Given the description of an element on the screen output the (x, y) to click on. 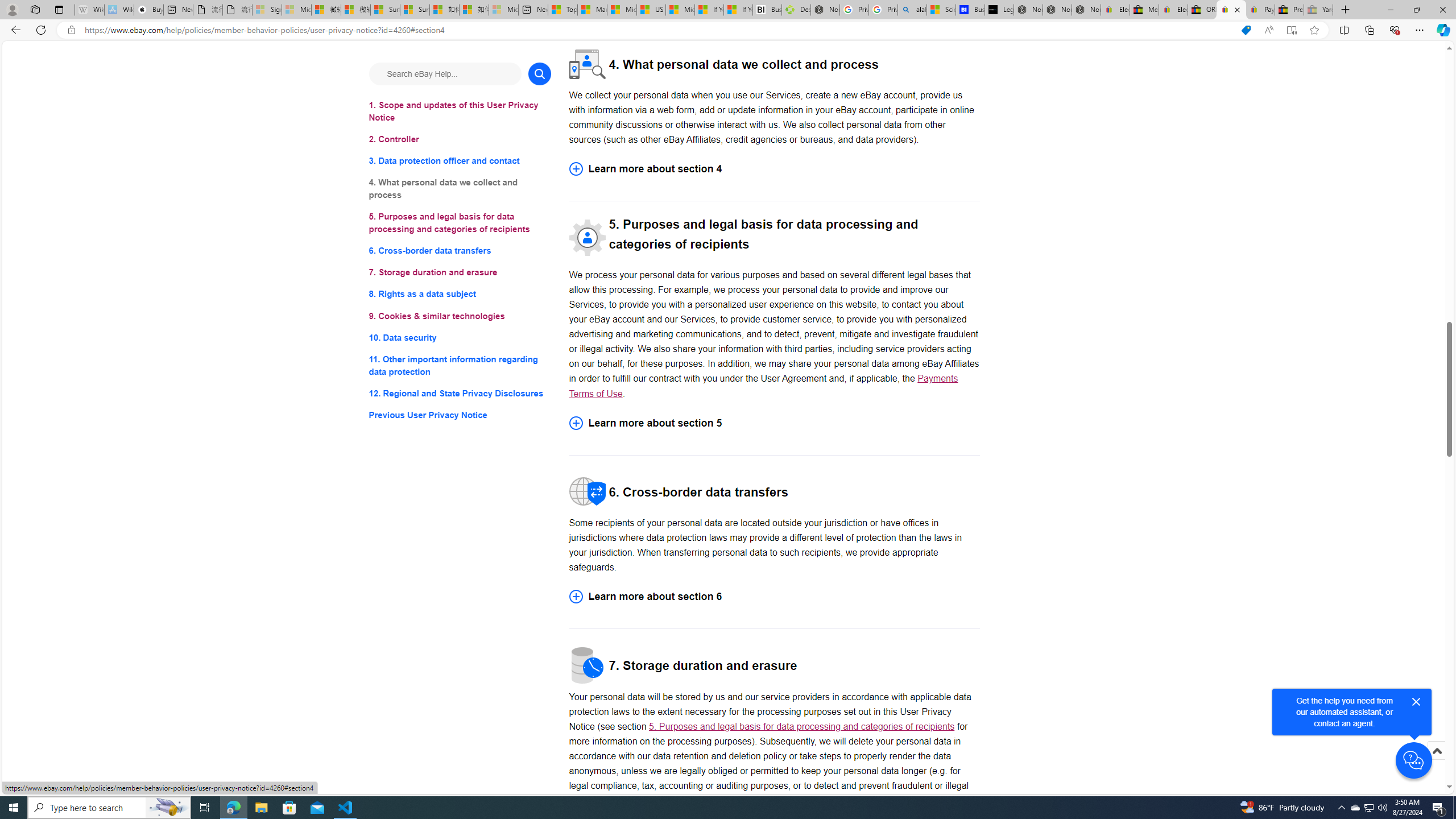
Buy iPad - Apple (148, 9)
